Given the description of an element on the screen output the (x, y) to click on. 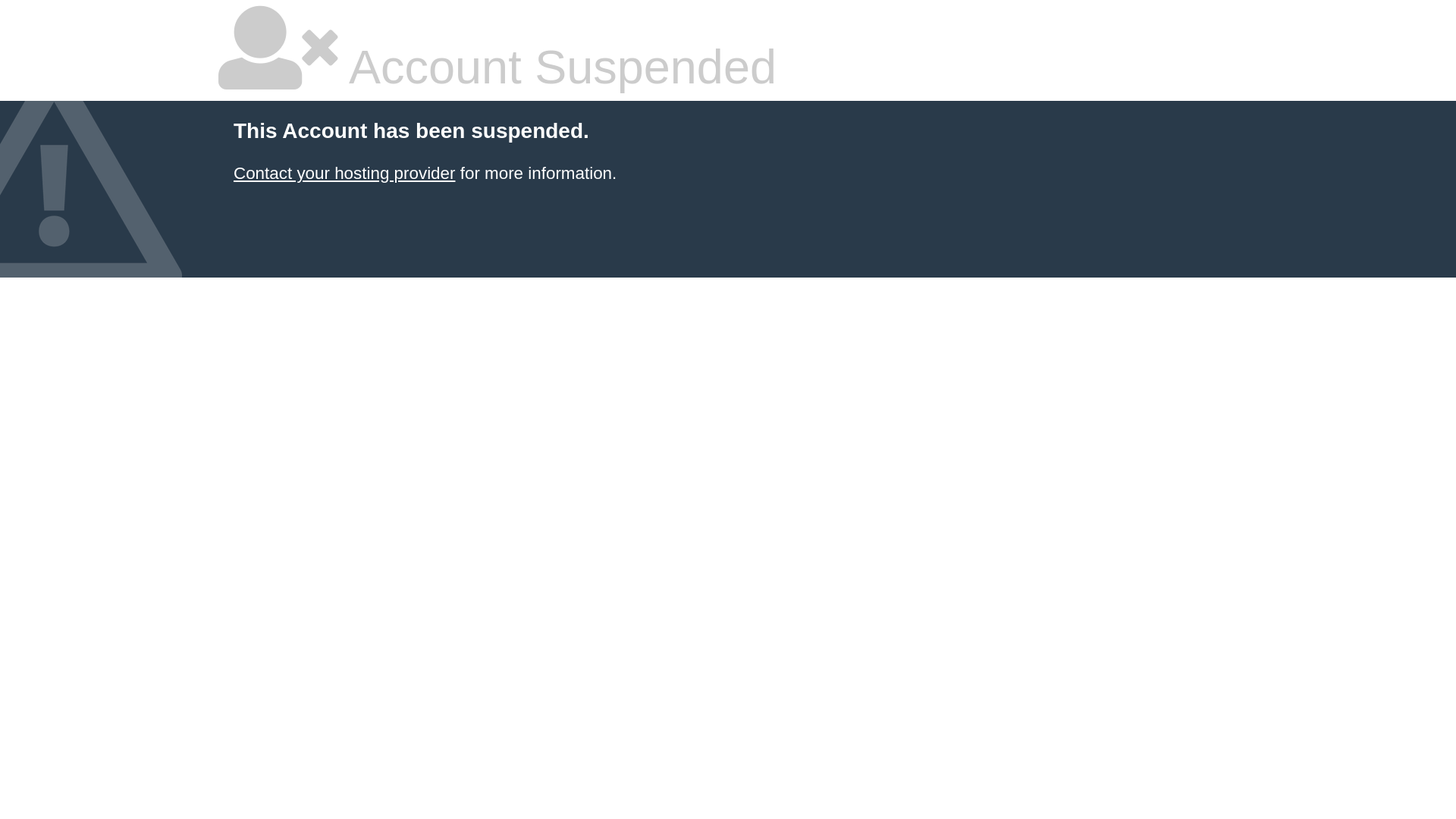
Contact your hosting provider Element type: text (344, 172)
